Given the description of an element on the screen output the (x, y) to click on. 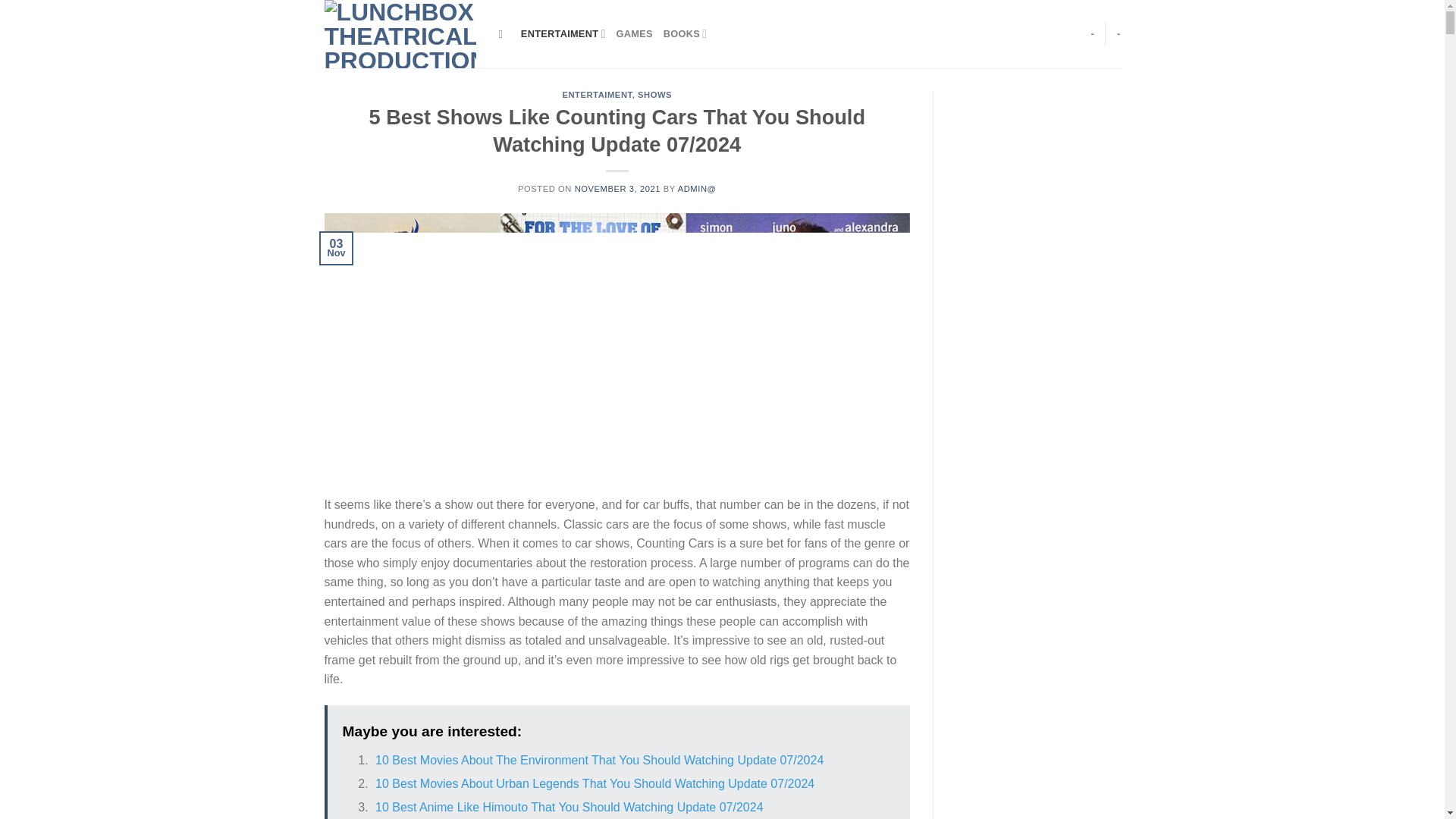
- (1118, 33)
ENTERTAIMENT (596, 94)
Lunchbox Theatrical Productions (400, 33)
BOOKS (685, 33)
WooCommerce needed (1092, 33)
GAMES (633, 33)
- (1092, 33)
NOVEMBER 3, 2021 (618, 188)
SHOWS (654, 94)
ENTERTAIMENT (563, 33)
WooCommerce needed (1118, 33)
